Given the description of an element on the screen output the (x, y) to click on. 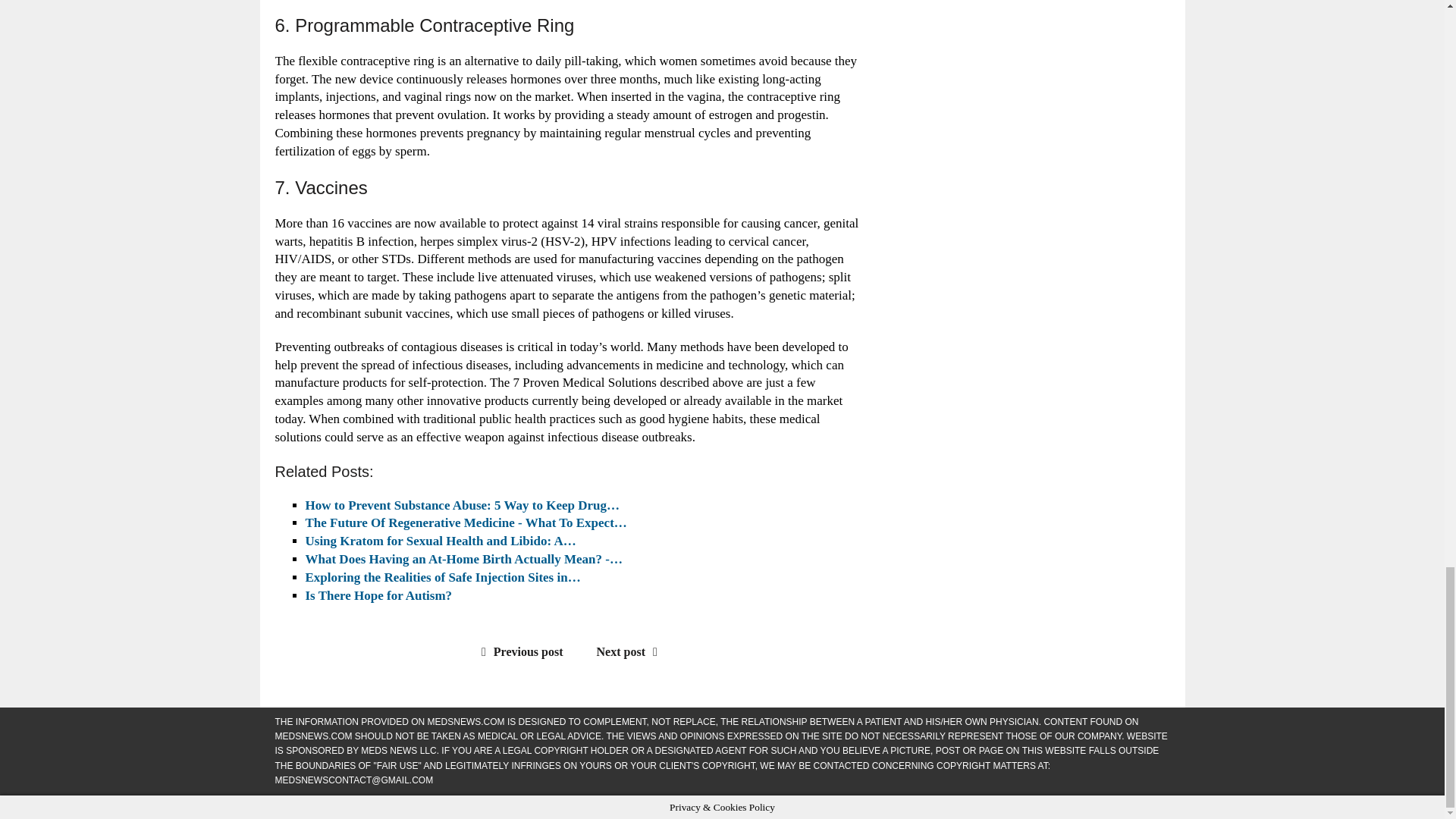
Next post (630, 651)
Is There Hope for Autism? (377, 595)
Previous post (518, 651)
